Given the description of an element on the screen output the (x, y) to click on. 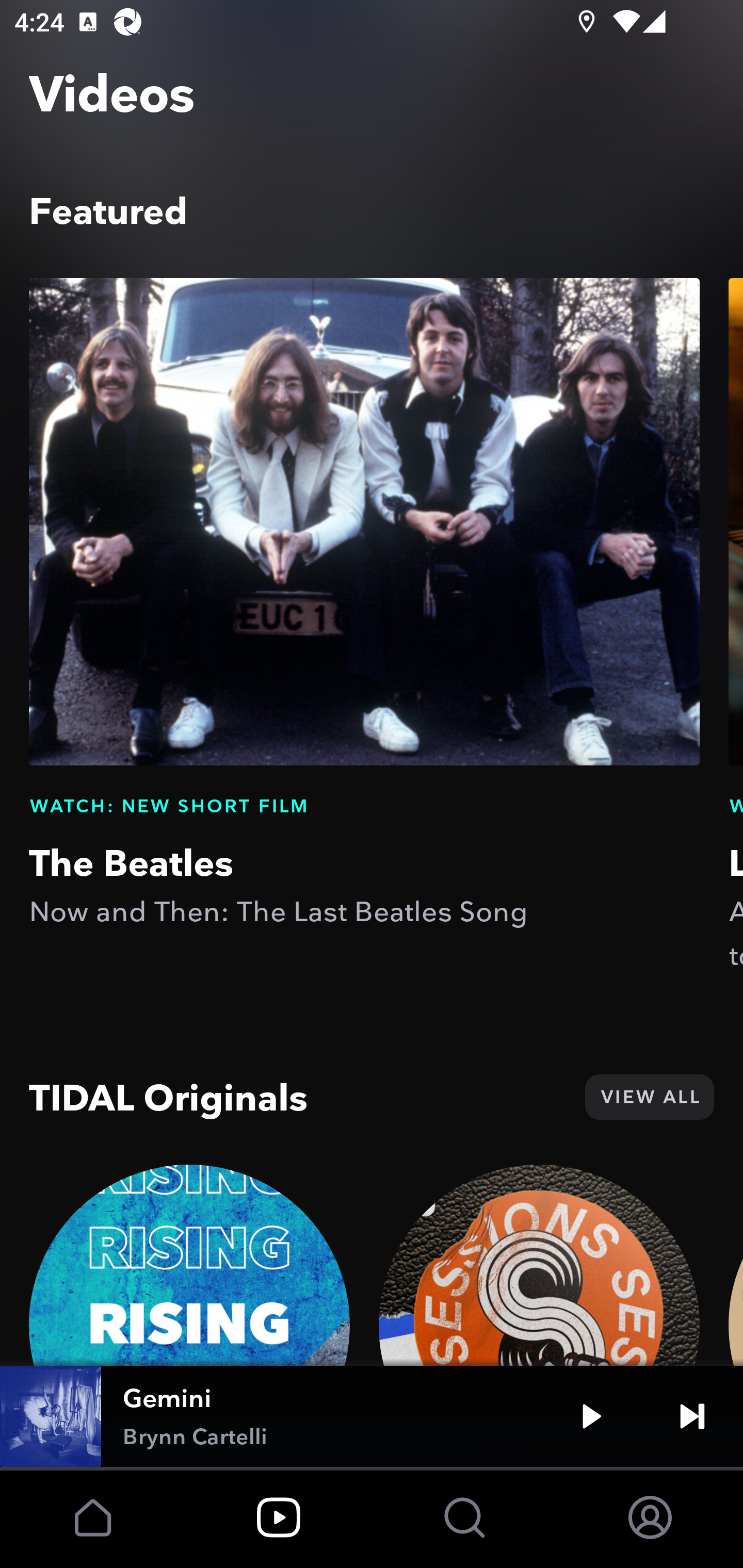
VIEW ALL (649, 1096)
Gemini Brynn Cartelli Play (371, 1416)
Play (590, 1416)
